Given the description of an element on the screen output the (x, y) to click on. 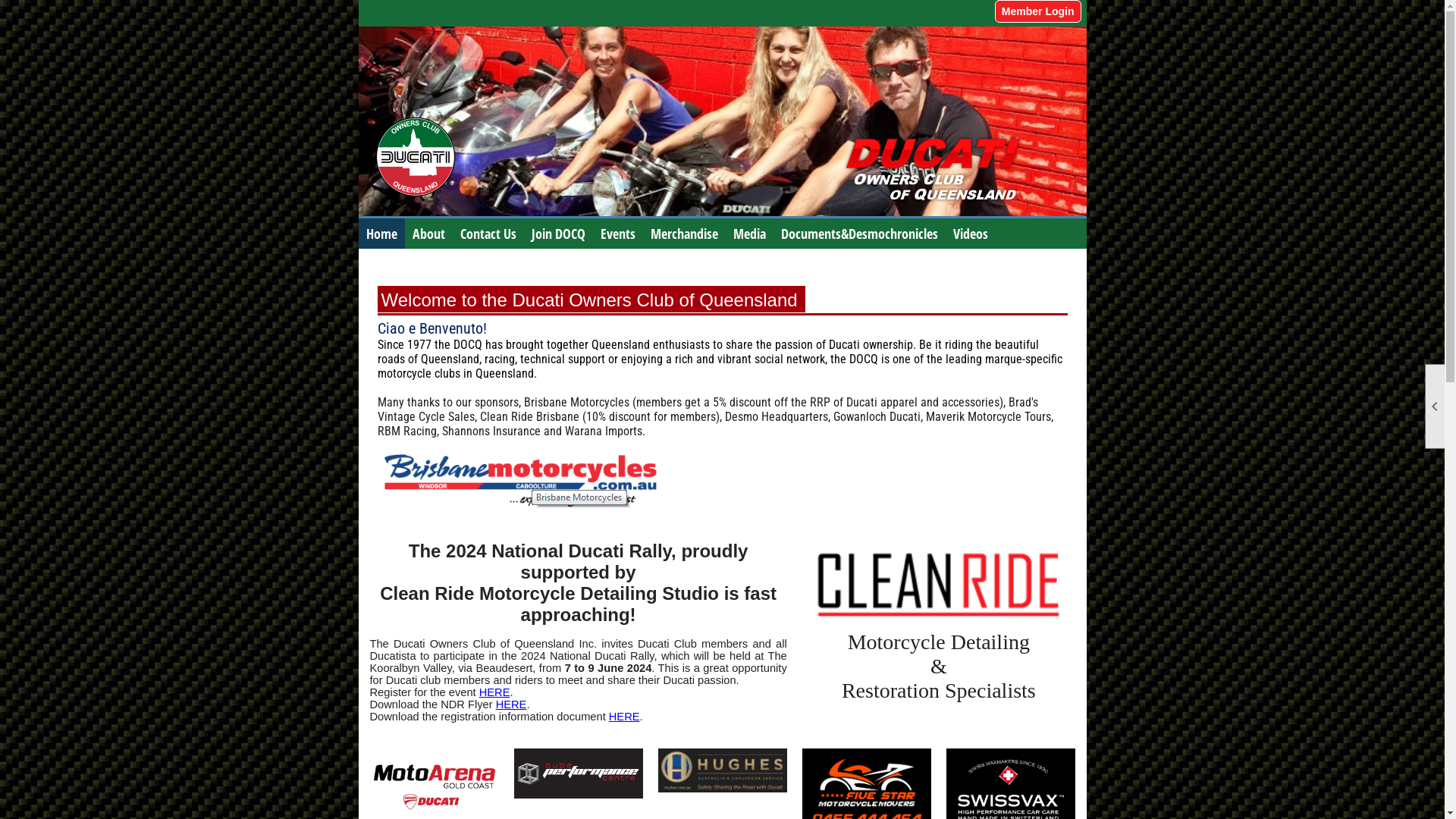
Join DOCQ Element type: text (557, 233)
Documents&Desmochronicles Element type: text (859, 233)
HERE Element type: text (511, 704)
HERE Element type: text (624, 716)
Member Login Element type: text (1037, 11)
Home Element type: text (380, 233)
Contact Us Element type: text (487, 233)
hughes_logo_2.jpg Element type: hover (722, 770)
Merchandise Element type: text (684, 233)
Events Element type: text (618, 233)
HERE Element type: text (494, 692)
CubePerform_K.jpg Element type: hover (578, 773)
